Given the description of an element on the screen output the (x, y) to click on. 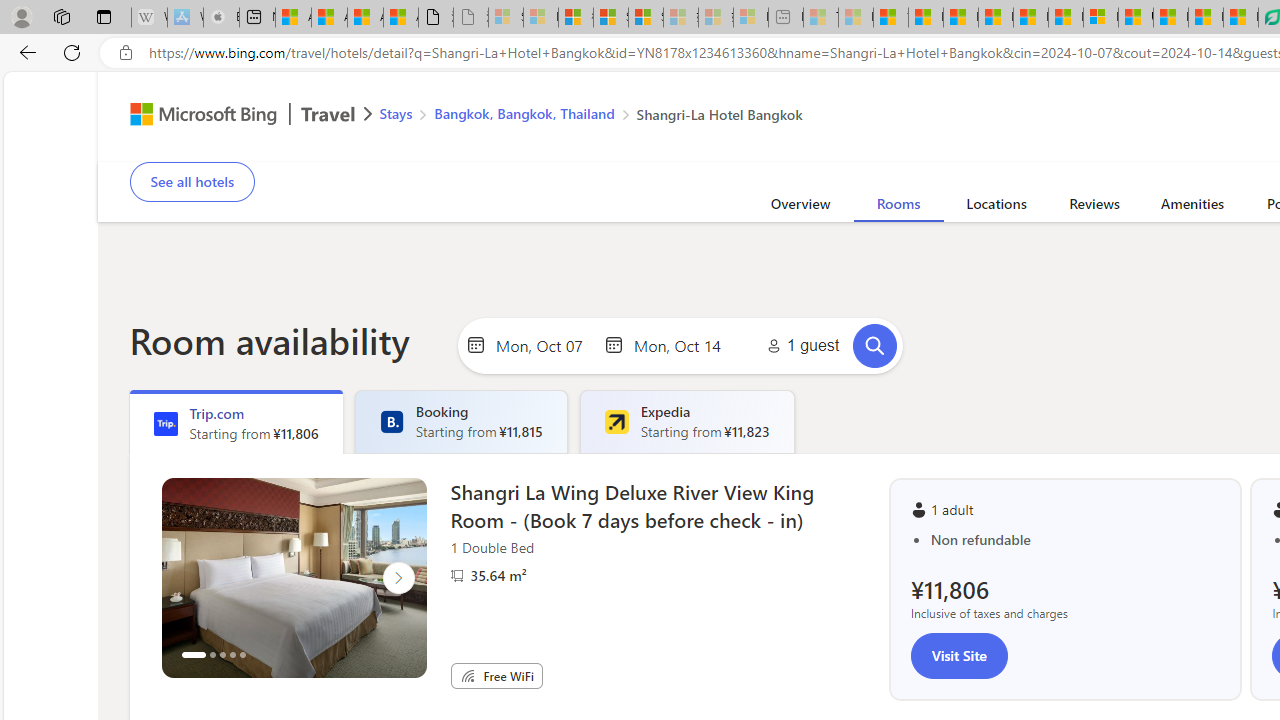
Overview (800, 207)
read more (1217, 121)
AutomationID: bread-crumb-root (578, 116)
See all hotels (191, 182)
Food and Drink - MSN (925, 17)
Expedia (616, 421)
Swimming pool (1034, 148)
Top Stories - MSN - Sleeping (820, 17)
Drinking tea every day is proven to delay biological aging (995, 17)
